Given the description of an element on the screen output the (x, y) to click on. 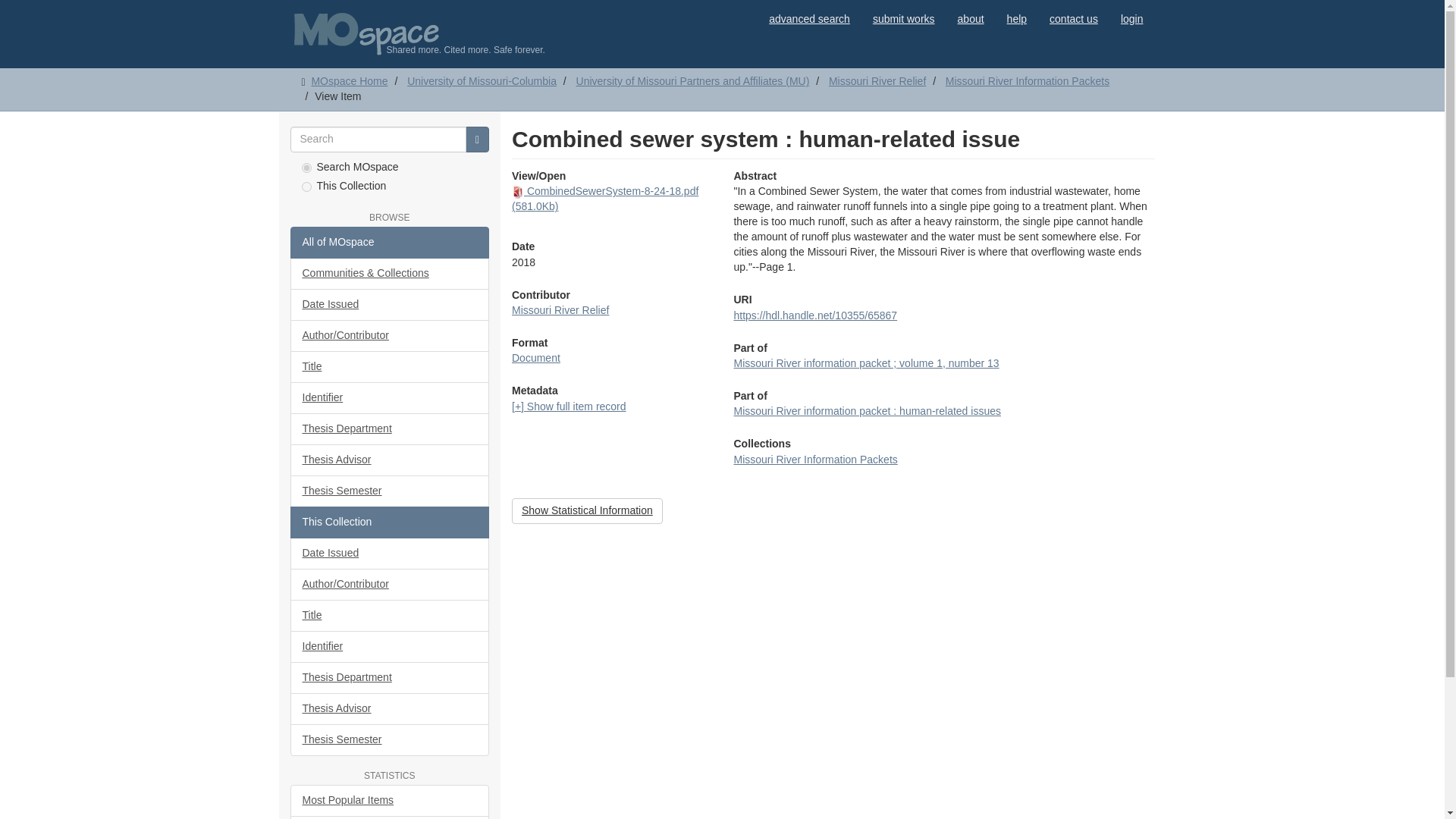
Identifier (389, 398)
Thesis Advisor (389, 459)
advanced search (809, 18)
Date Issued (389, 305)
Missouri River Information Packets (1026, 80)
PDF file (518, 192)
login (1131, 18)
University of Missouri-Columbia (481, 80)
Title (389, 367)
Thesis Semester (389, 490)
